Given the description of an element on the screen output the (x, y) to click on. 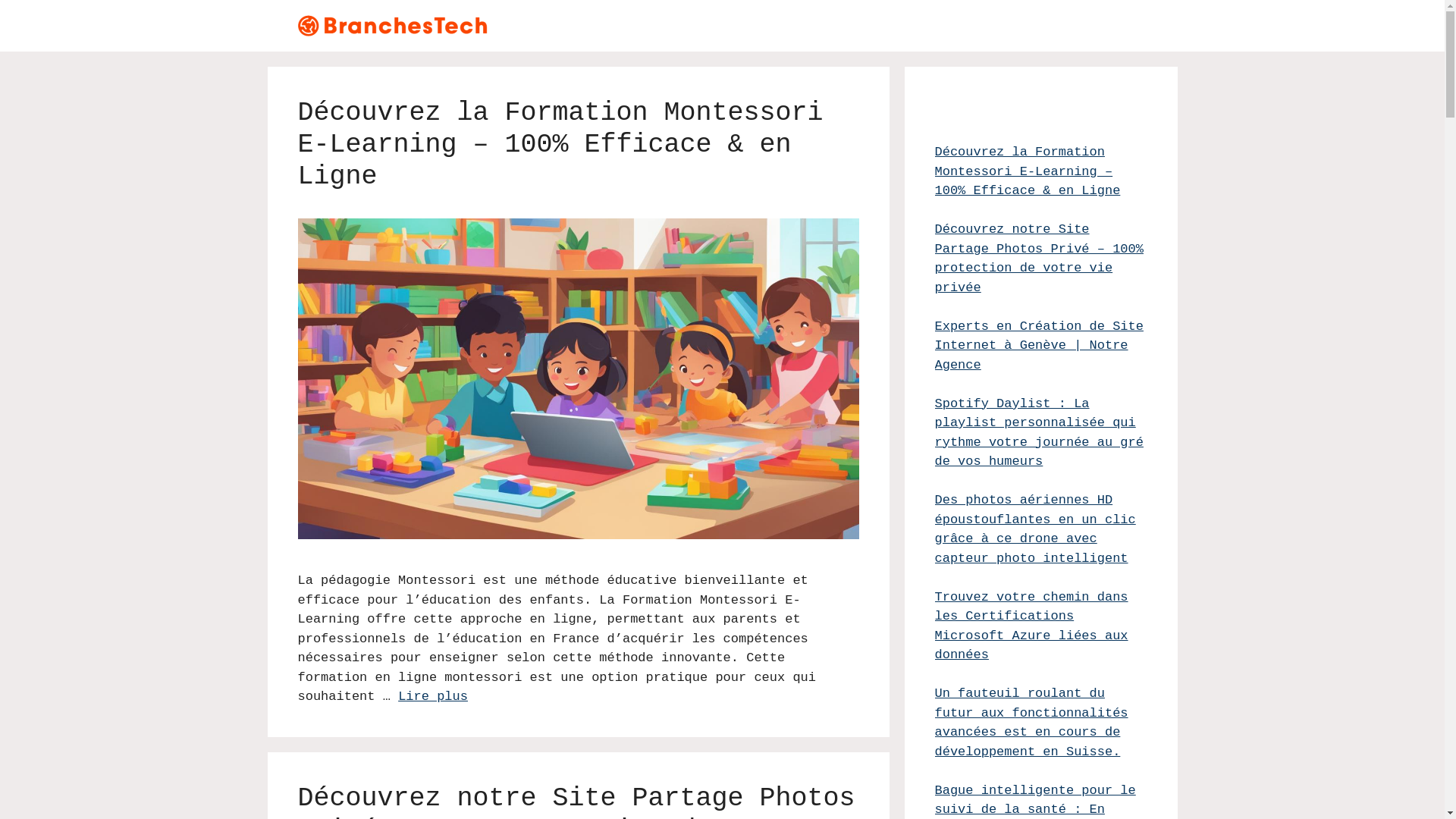
Lire plus Element type: text (432, 696)
